Given the description of an element on the screen output the (x, y) to click on. 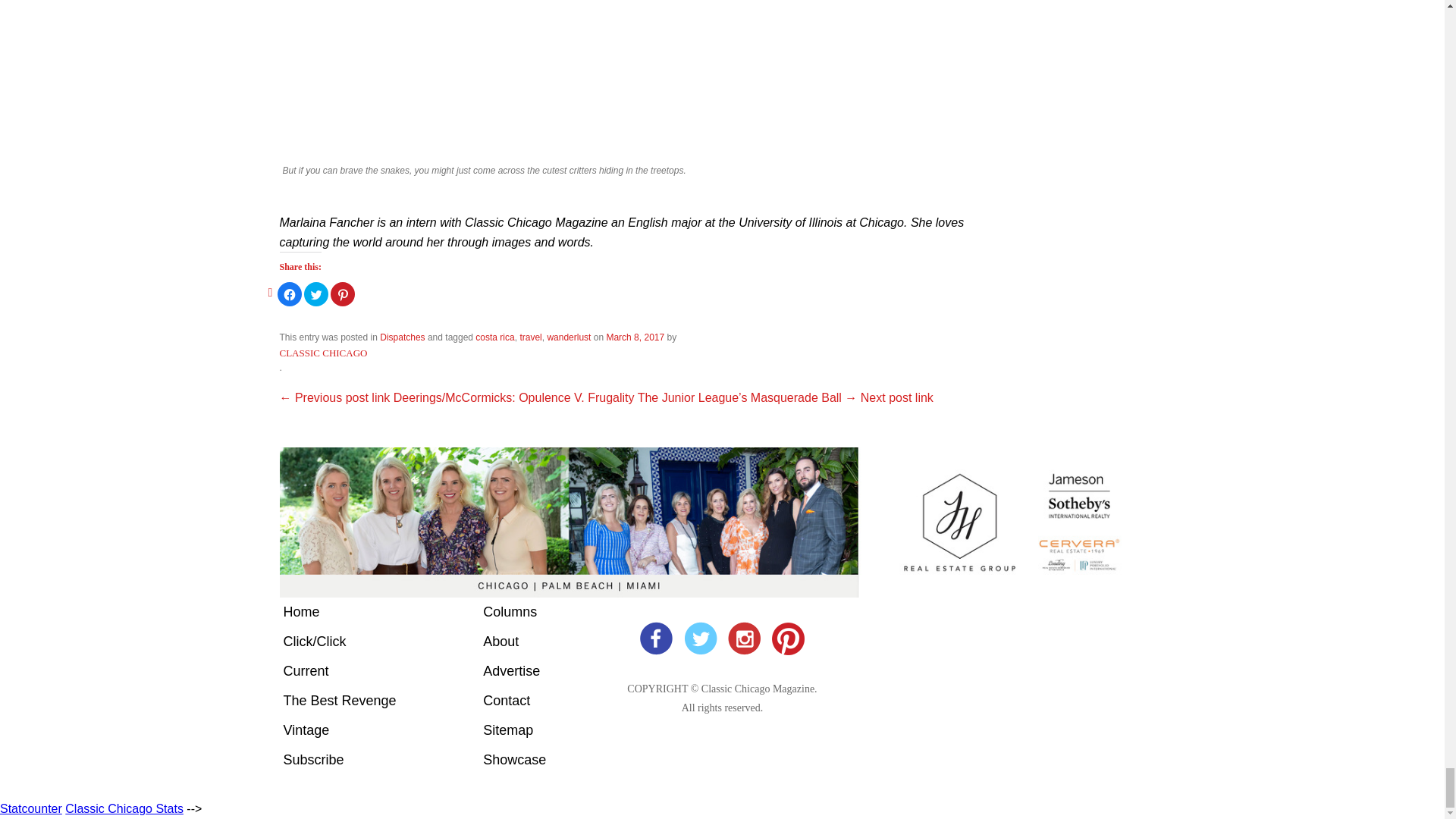
Click to share on Twitter (316, 293)
View all posts by Classic Chicago (322, 352)
Click to share on Pinterest (342, 293)
Click to share on Facebook (289, 293)
12:26 am (634, 337)
